Given the description of an element on the screen output the (x, y) to click on. 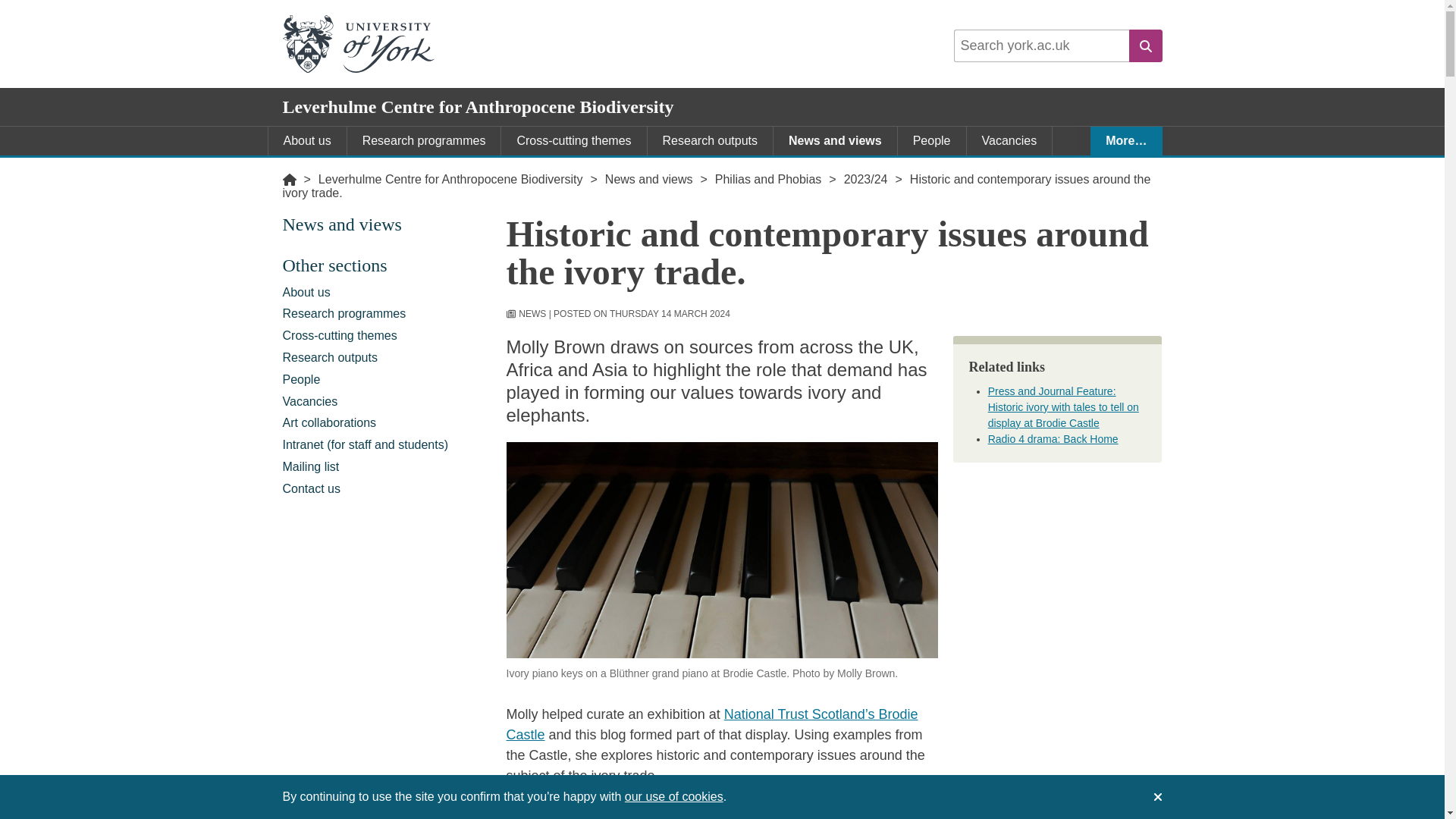
Research programmes (386, 314)
News and views (834, 140)
Historic and contemporary issues around the ivory trade. (716, 185)
Contact us (386, 488)
About us (306, 140)
Mailing list (386, 466)
Art collaborations (386, 423)
Research programmes (423, 140)
Home (288, 178)
Vacancies (1009, 140)
Art collaborations (328, 169)
Home (288, 179)
People (932, 140)
News and views (649, 178)
Cross-cutting themes (386, 336)
